Given the description of an element on the screen output the (x, y) to click on. 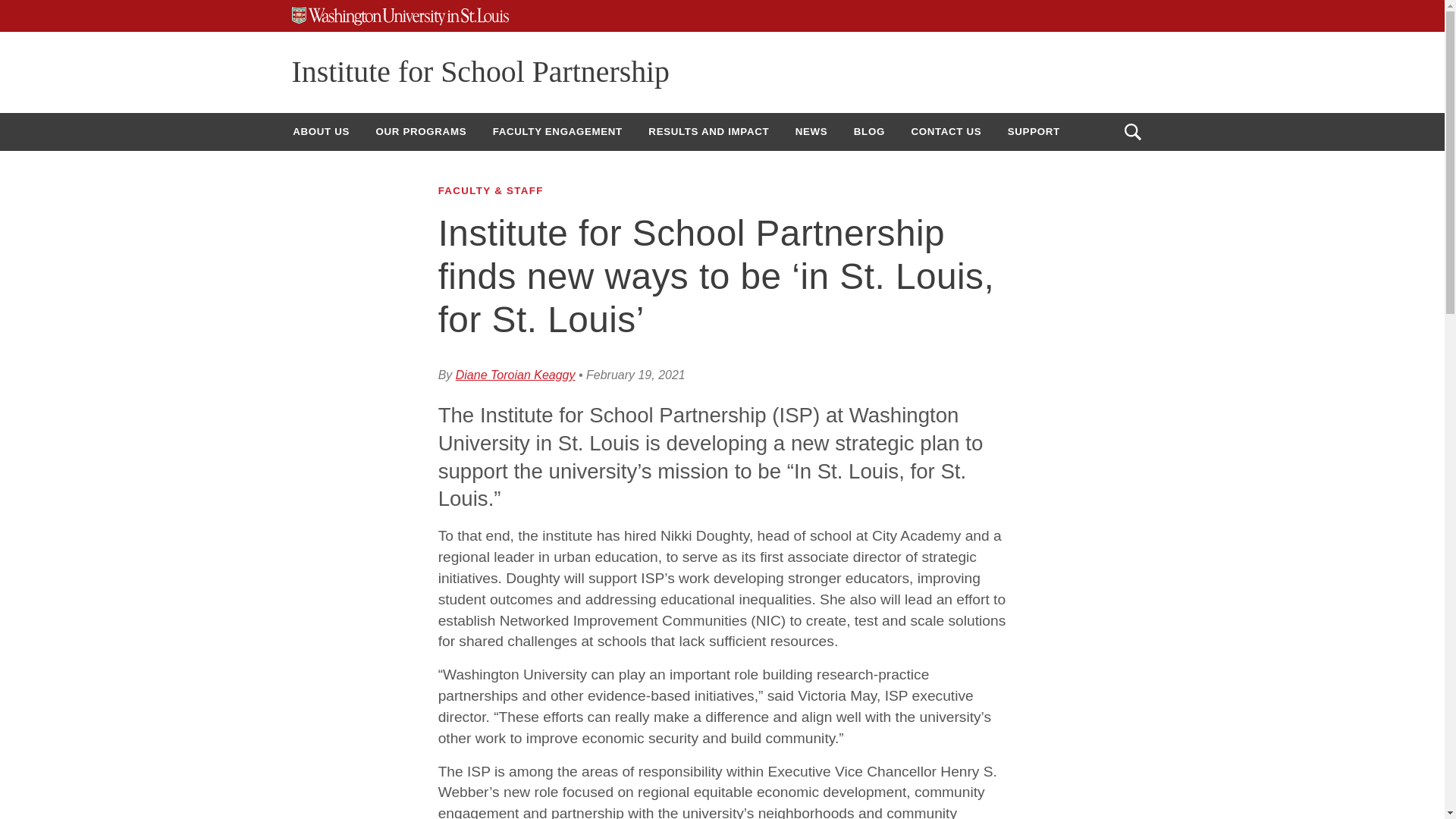
RESULTS AND IMPACT (708, 131)
FACULTY ENGAGEMENT (557, 131)
ABOUT US (321, 131)
Posts by Diane Toroian Keaggy (515, 374)
BLOG (869, 131)
Open Search (1132, 132)
NEWS (812, 131)
Diane Toroian Keaggy (515, 374)
Institute for School Partnership (480, 71)
SUPPORT (1033, 131)
